Given the description of an element on the screen output the (x, y) to click on. 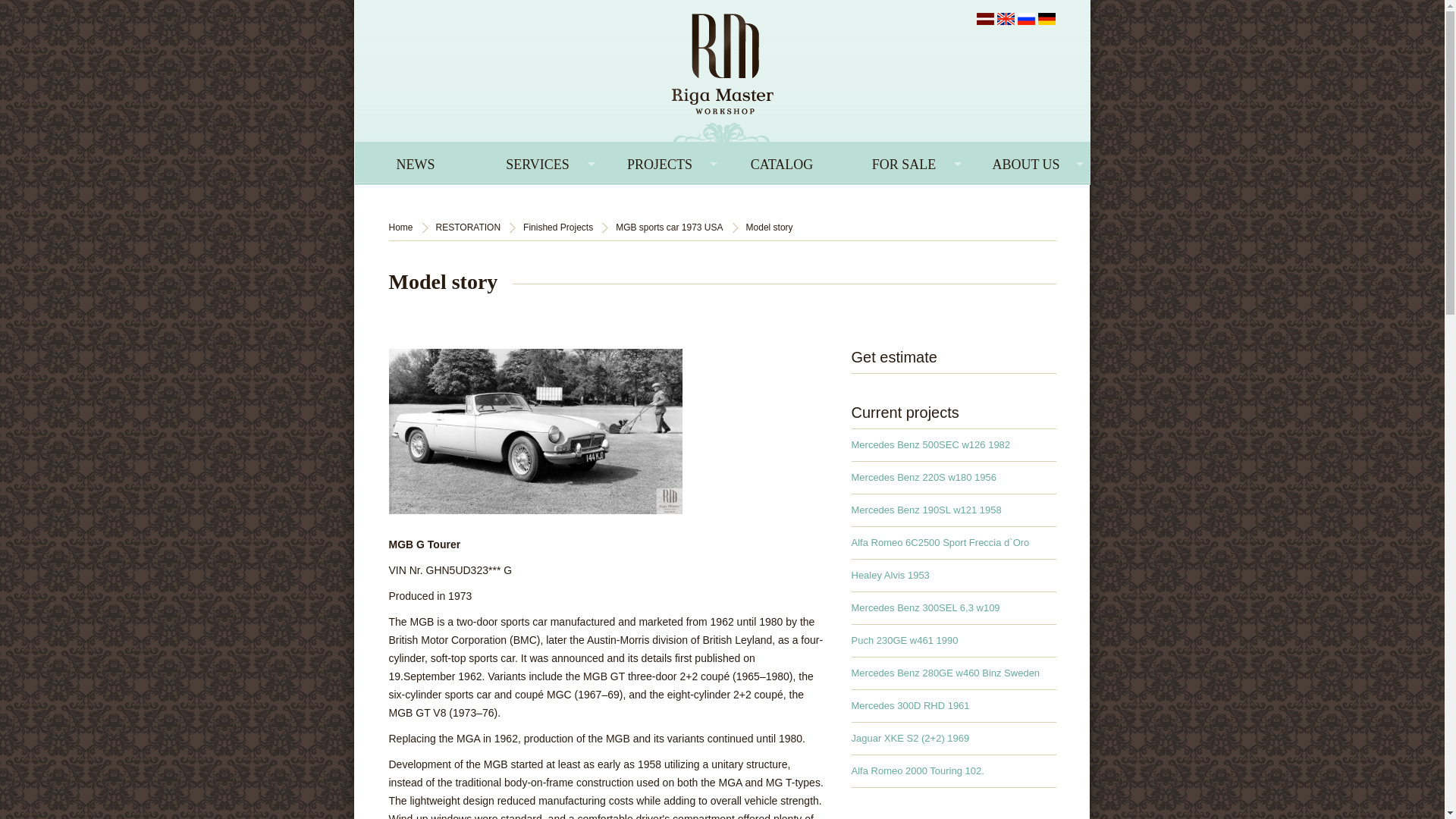
SERVICES (537, 161)
CATALOG (781, 161)
Russian (1026, 18)
English (1004, 18)
NEWS (416, 161)
FOR SALE (904, 161)
ABOUT US (1024, 161)
PROJECTS (659, 161)
